Given the description of an element on the screen output the (x, y) to click on. 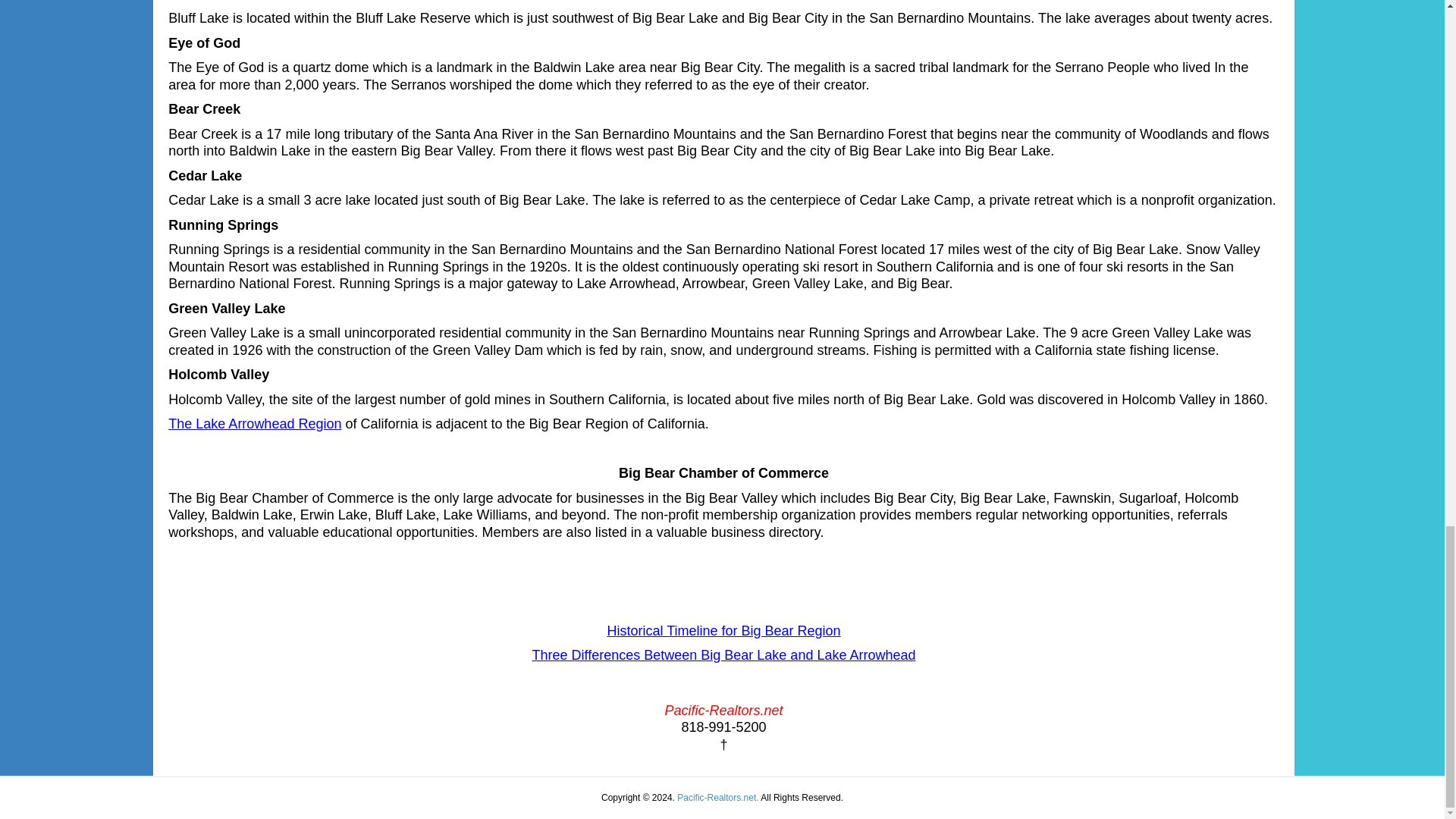
Pacific-Realtors.net. (717, 797)
Historical Timeline for Big Bear Region (723, 630)
Three Differences Between Big Bear Lake and Lake Arrowhead (723, 654)
The Lake Arrowhead Region (254, 423)
